Given the description of an element on the screen output the (x, y) to click on. 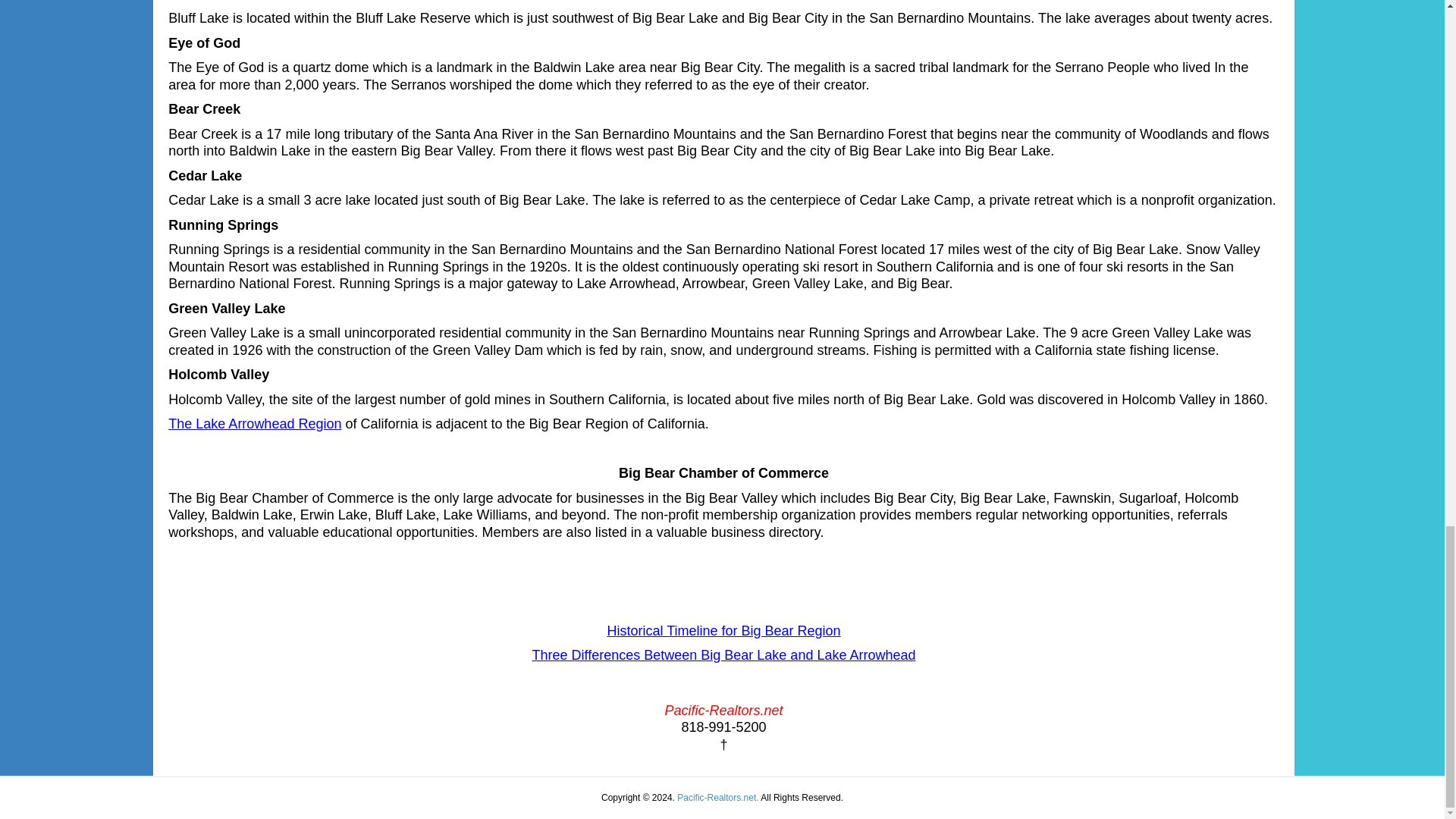
Pacific-Realtors.net. (717, 797)
Historical Timeline for Big Bear Region (723, 630)
Three Differences Between Big Bear Lake and Lake Arrowhead (723, 654)
The Lake Arrowhead Region (254, 423)
